Given the description of an element on the screen output the (x, y) to click on. 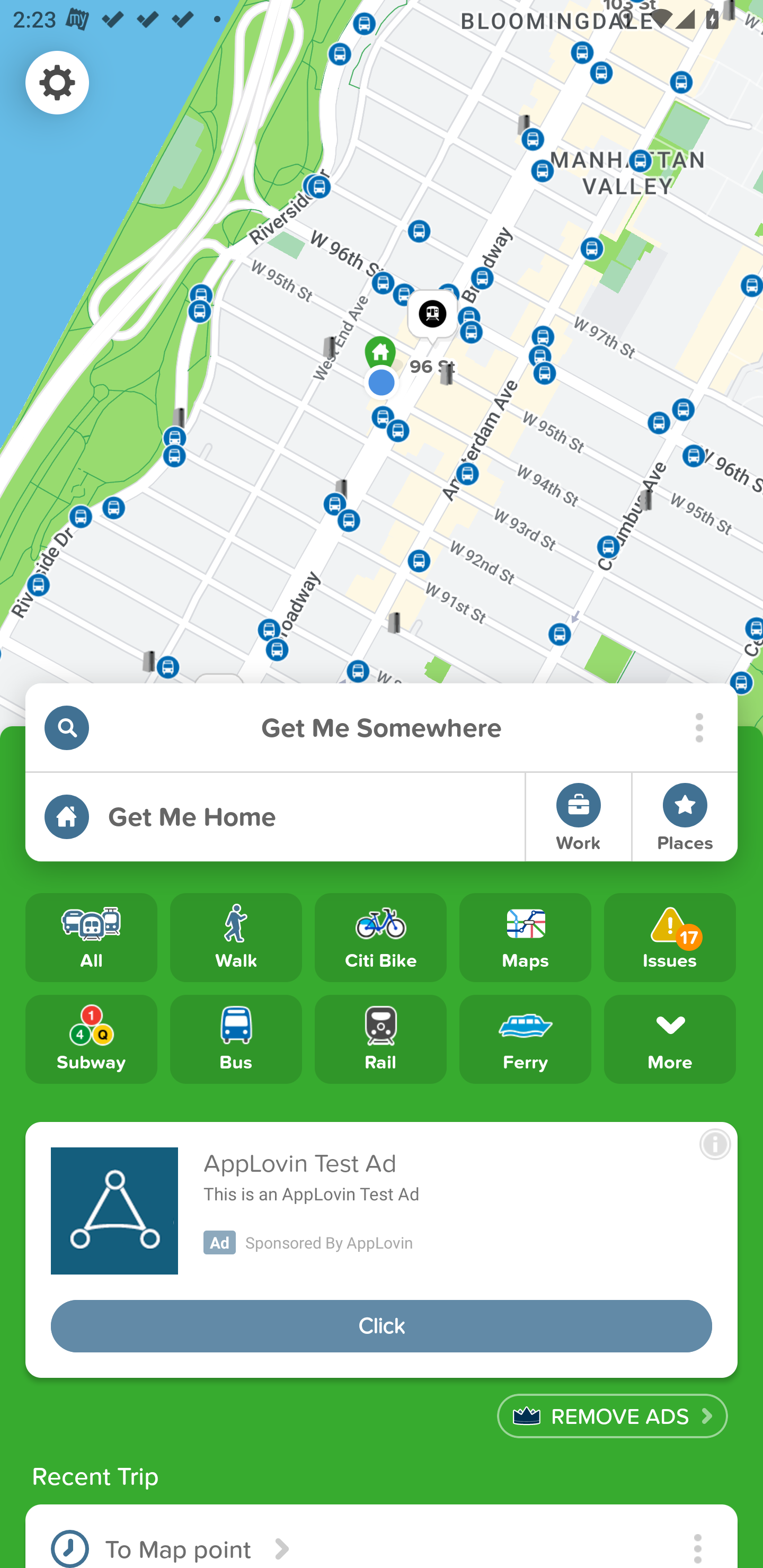
Get Me Home (274, 816)
